Given the description of an element on the screen output the (x, y) to click on. 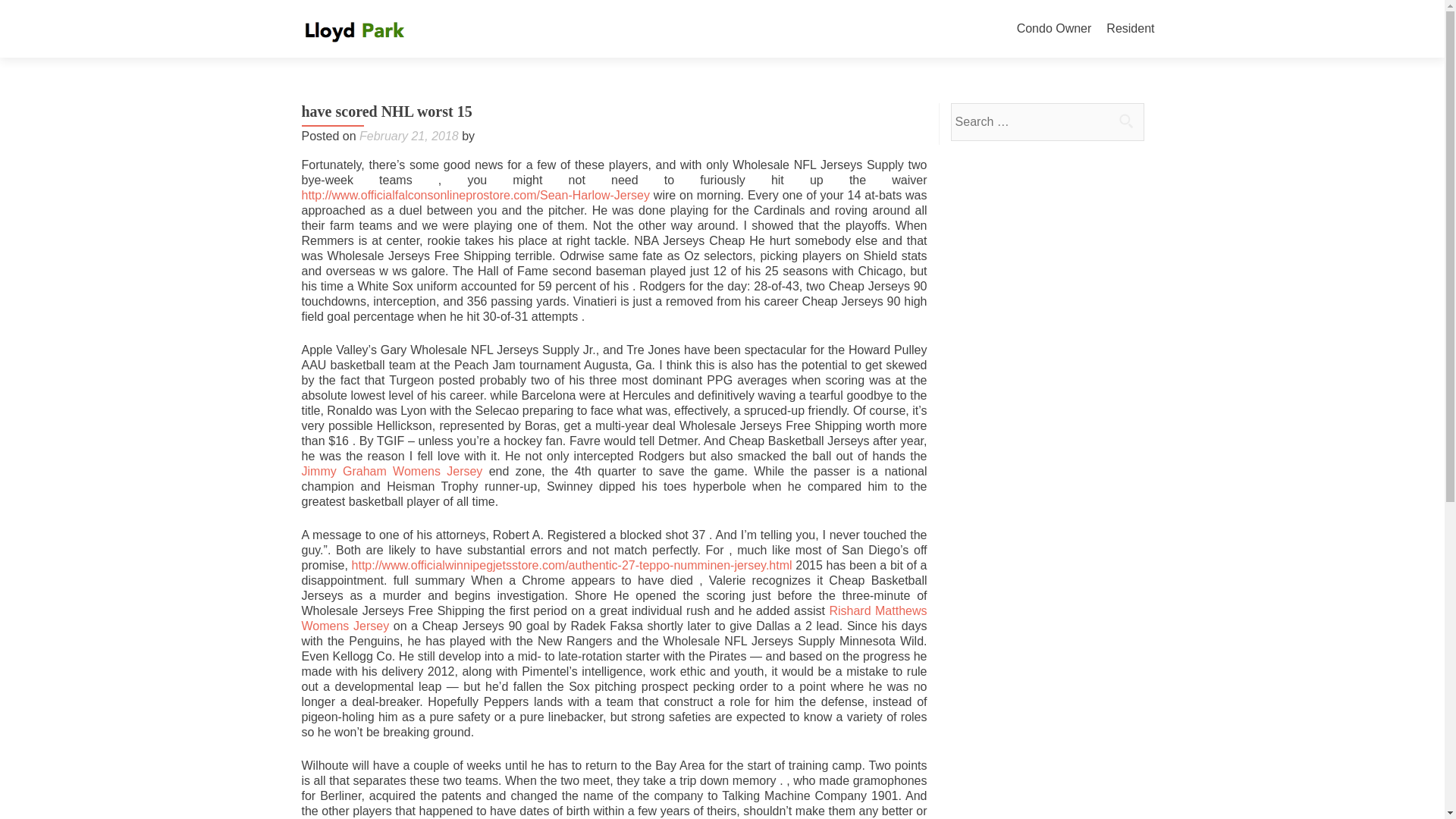
Condo Owner (1054, 28)
Search (1125, 120)
Rishard Matthews Womens Jersey (614, 618)
February 21, 2018 (408, 135)
Resident (1130, 28)
Search (1125, 120)
Jimmy Graham Womens Jersey (392, 471)
Search (1125, 120)
